Given the description of an element on the screen output the (x, y) to click on. 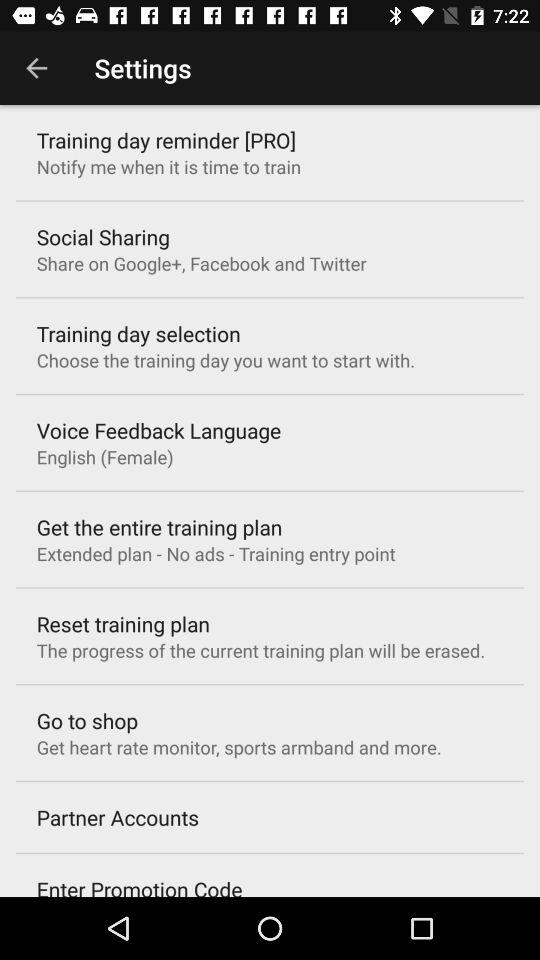
choose icon above training day selection icon (201, 263)
